Given the description of an element on the screen output the (x, y) to click on. 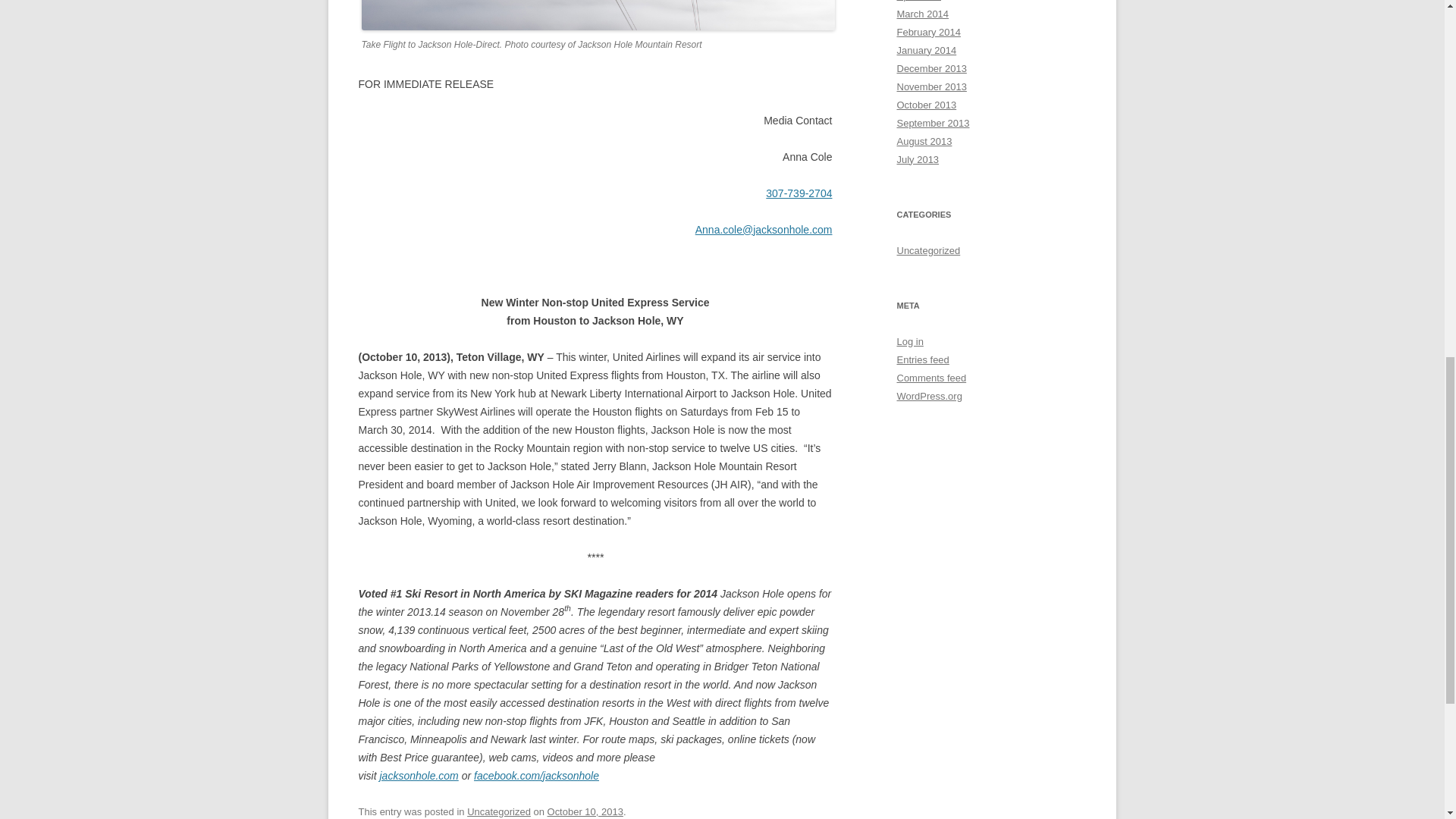
October 2013 (926, 104)
September 2013 (932, 122)
November 2013 (931, 86)
5:03 pm (585, 811)
Uncategorized (927, 250)
Comments feed (931, 378)
307-739-2704 (798, 193)
February 2014 (927, 31)
April 2014 (918, 0)
January 2014 (926, 50)
